Given the description of an element on the screen output the (x, y) to click on. 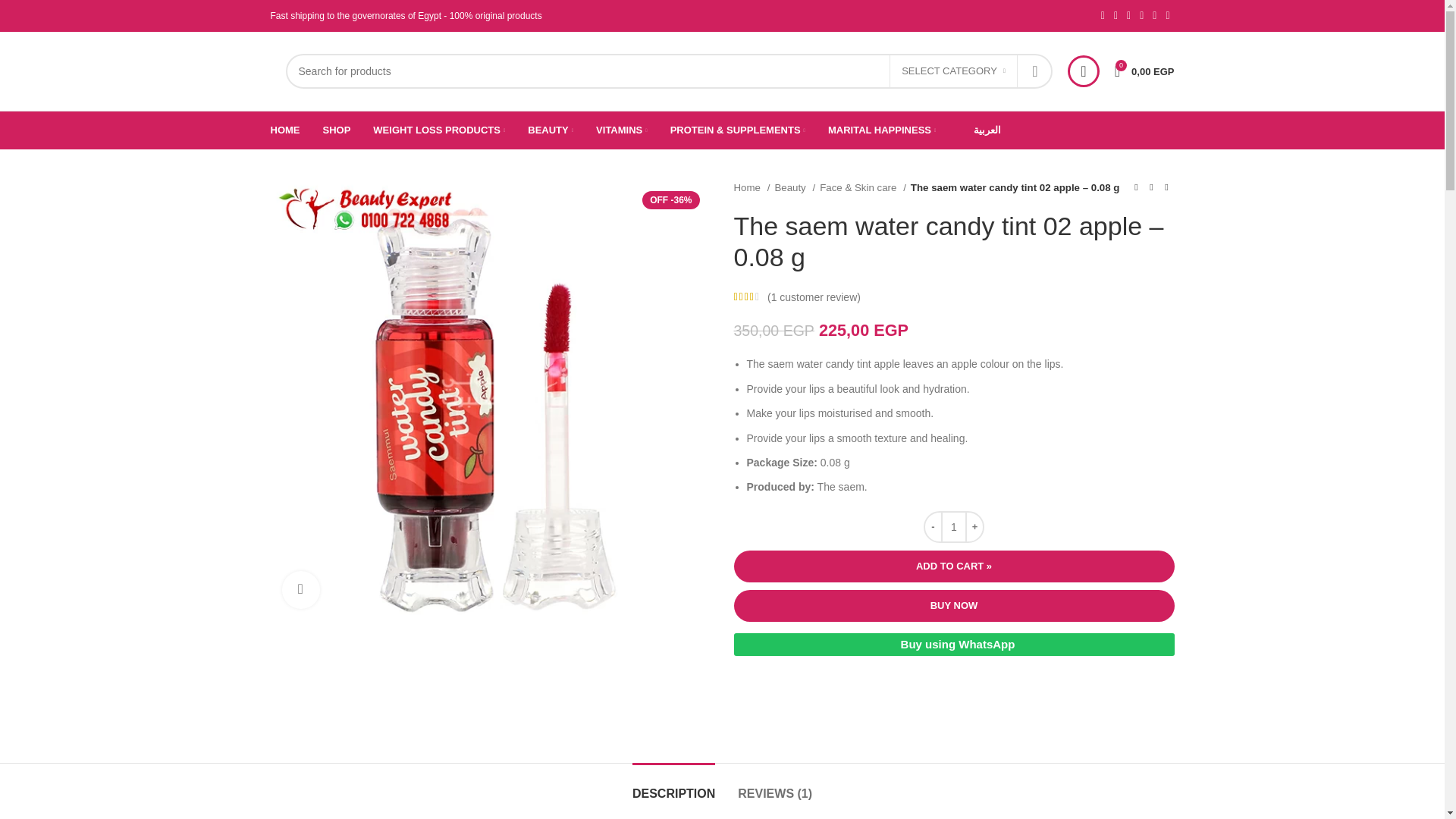
SELECT CATEGORY (953, 70)
My account (1082, 71)
Search for products (668, 71)
SELECT CATEGORY (953, 70)
Shopping cart (1144, 71)
